Given the description of an element on the screen output the (x, y) to click on. 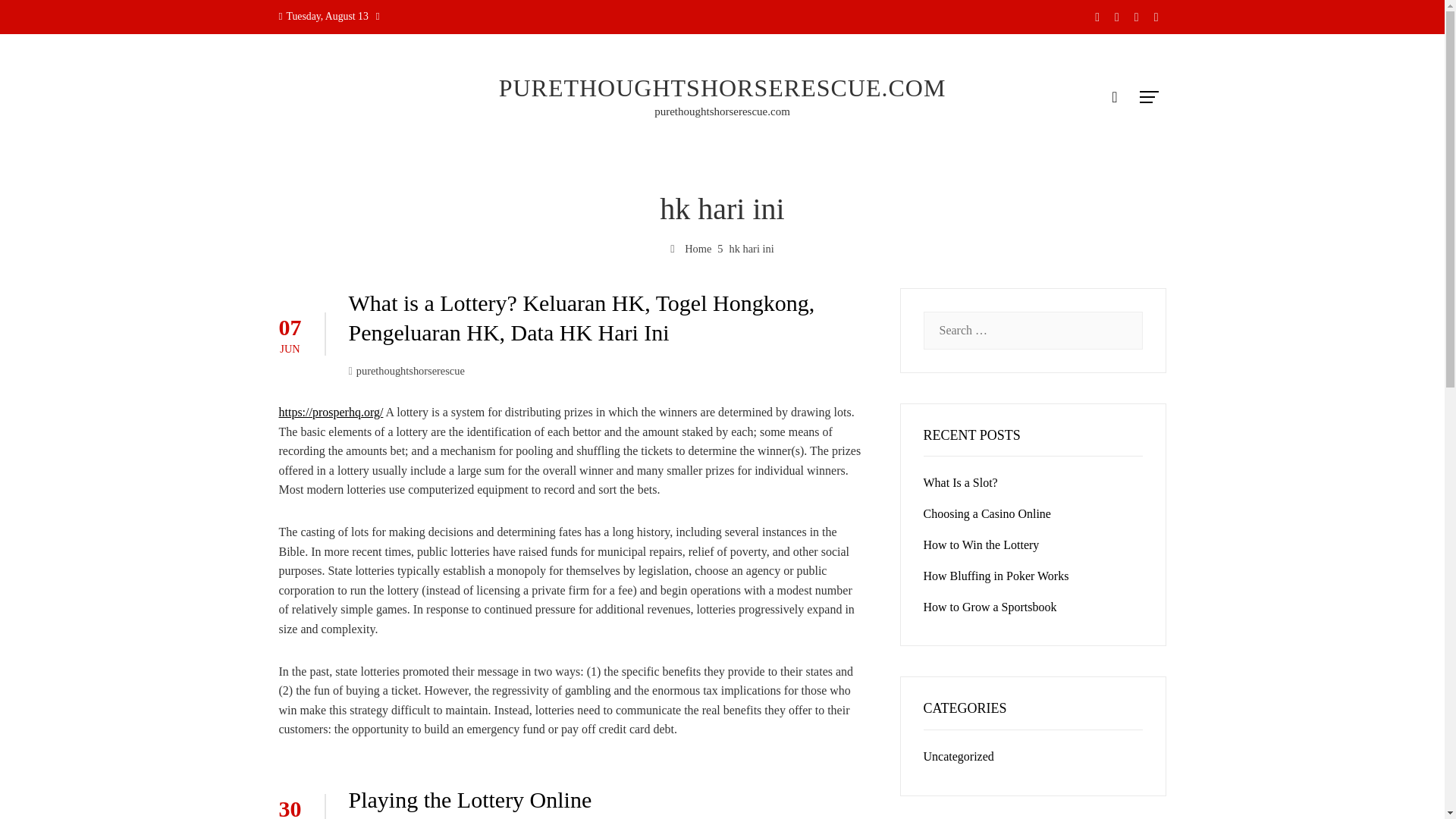
purethoughtshorserescue.com (721, 111)
How to Grow a Sportsbook (990, 606)
Home (690, 248)
Search (35, 18)
PURETHOUGHTSHORSERESCUE.COM (722, 87)
How to Win the Lottery (981, 544)
Uncategorized (958, 756)
How Bluffing in Poker Works (995, 575)
Playing the Lottery Online (470, 799)
Choosing a Casino Online (987, 513)
